Given the description of an element on the screen output the (x, y) to click on. 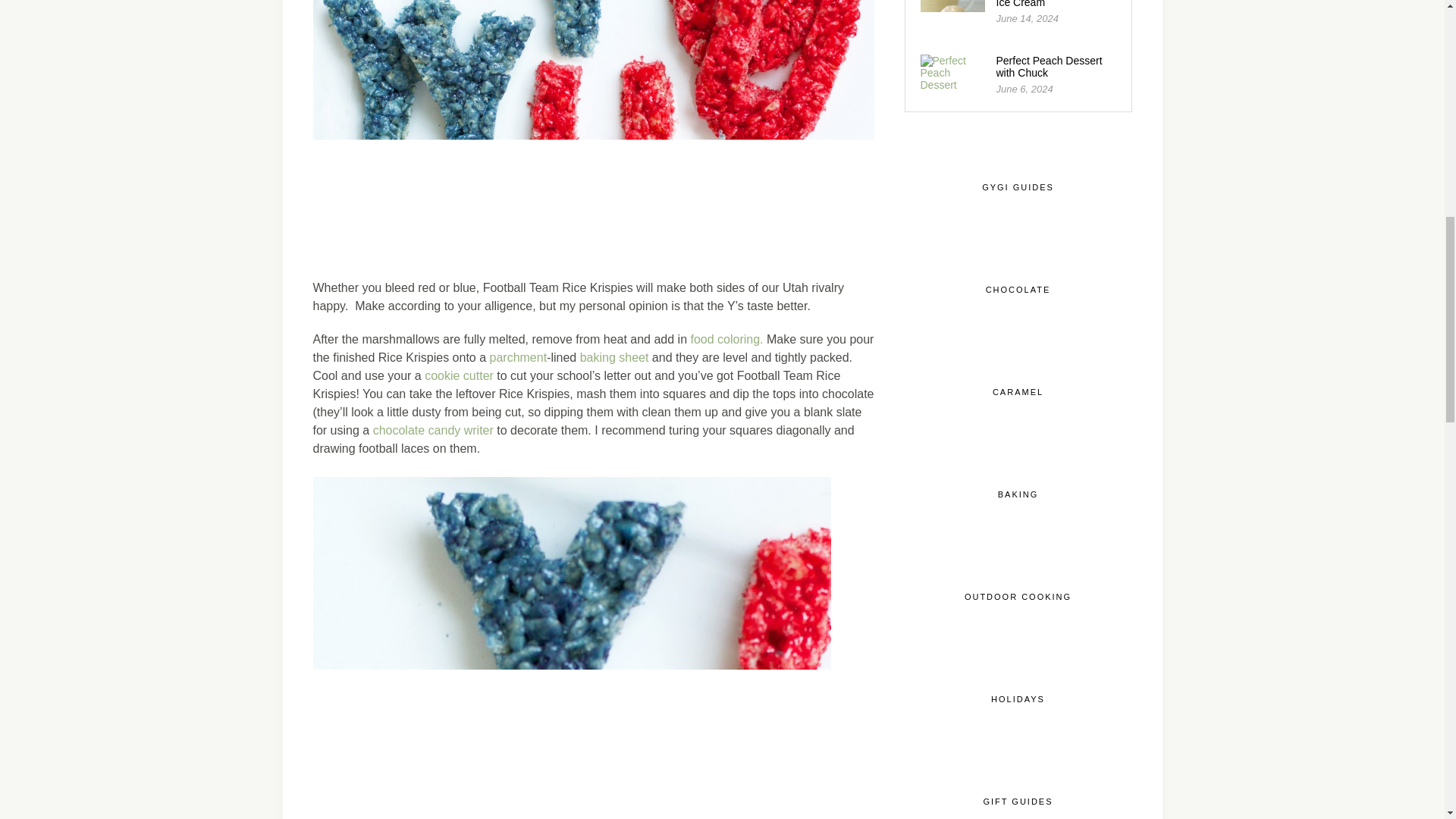
food coloring. (726, 338)
baking sheet (614, 357)
cookie cutter (459, 375)
Perfect Peach Dessert with Chuck (1048, 66)
Mastering Homemade Ice Cream (1047, 4)
parchment (518, 357)
chocolate candy writer (432, 430)
